Given the description of an element on the screen output the (x, y) to click on. 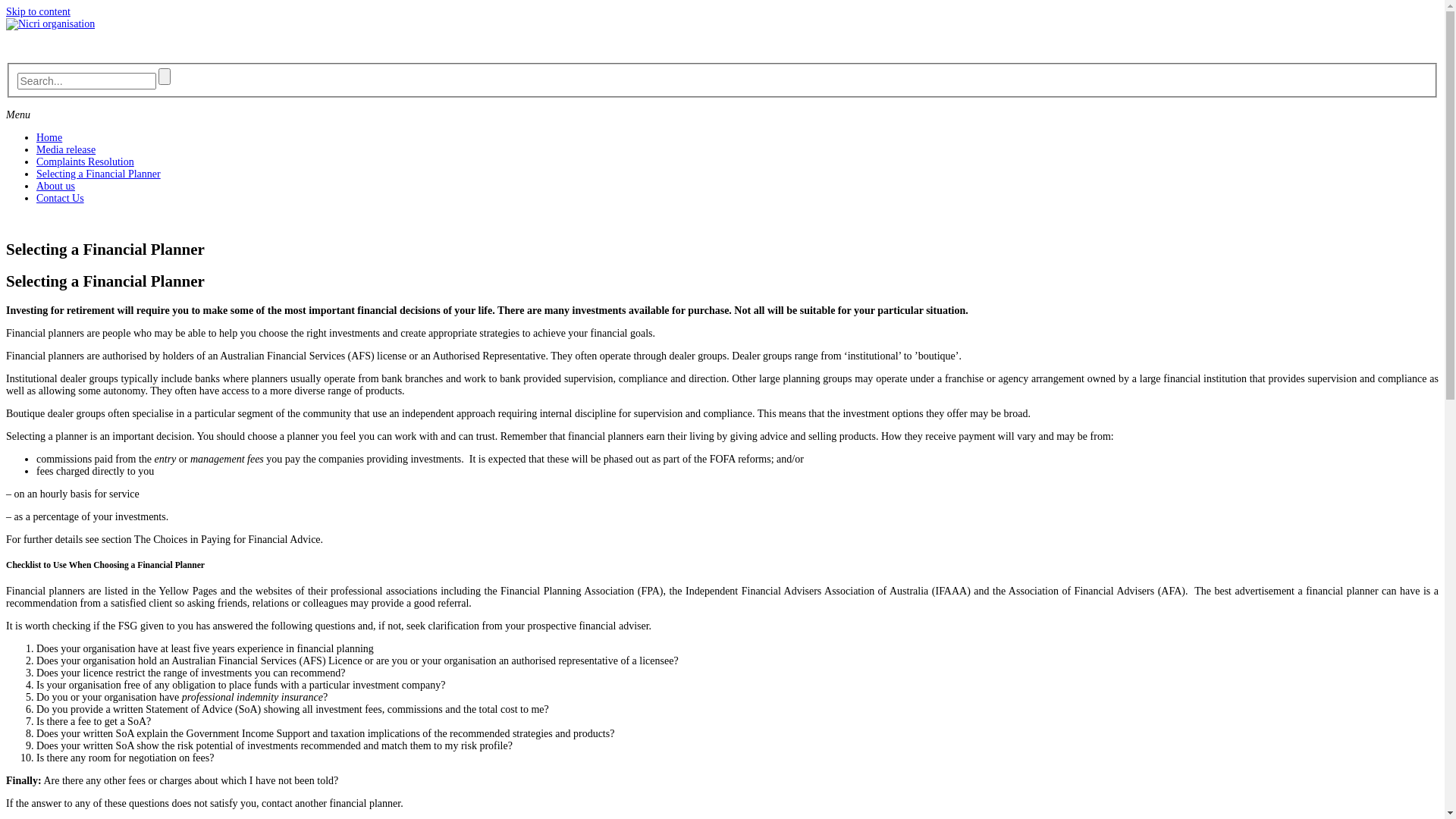
About us Element type: text (55, 185)
Selecting a Financial Planner Element type: text (98, 173)
Skip to content Element type: text (38, 11)
Search for: Element type: hover (85, 80)
Media release Element type: text (65, 149)
Contact Us Element type: text (60, 197)
Home Element type: text (49, 137)
Complaints Resolution Element type: text (85, 161)
